Given the description of an element on the screen output the (x, y) to click on. 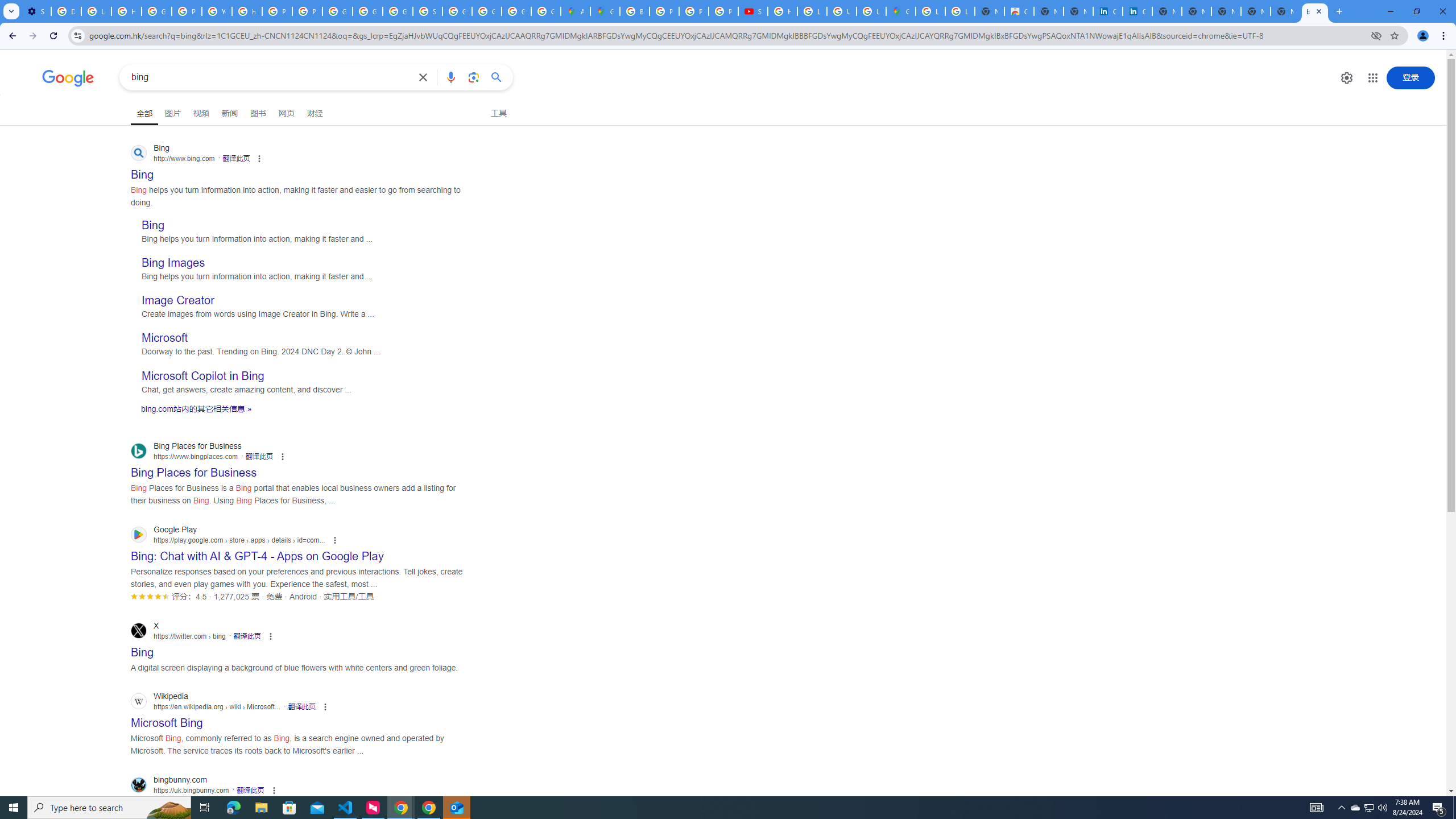
Google Maps (604, 11)
Bing Images (173, 262)
YouTube (216, 11)
Image Creator (177, 300)
 Bing Bunny: Home bingbunny.com https://uk.bingbunny.com (178, 803)
Settings - Customize profile (36, 11)
